Given the description of an element on the screen output the (x, y) to click on. 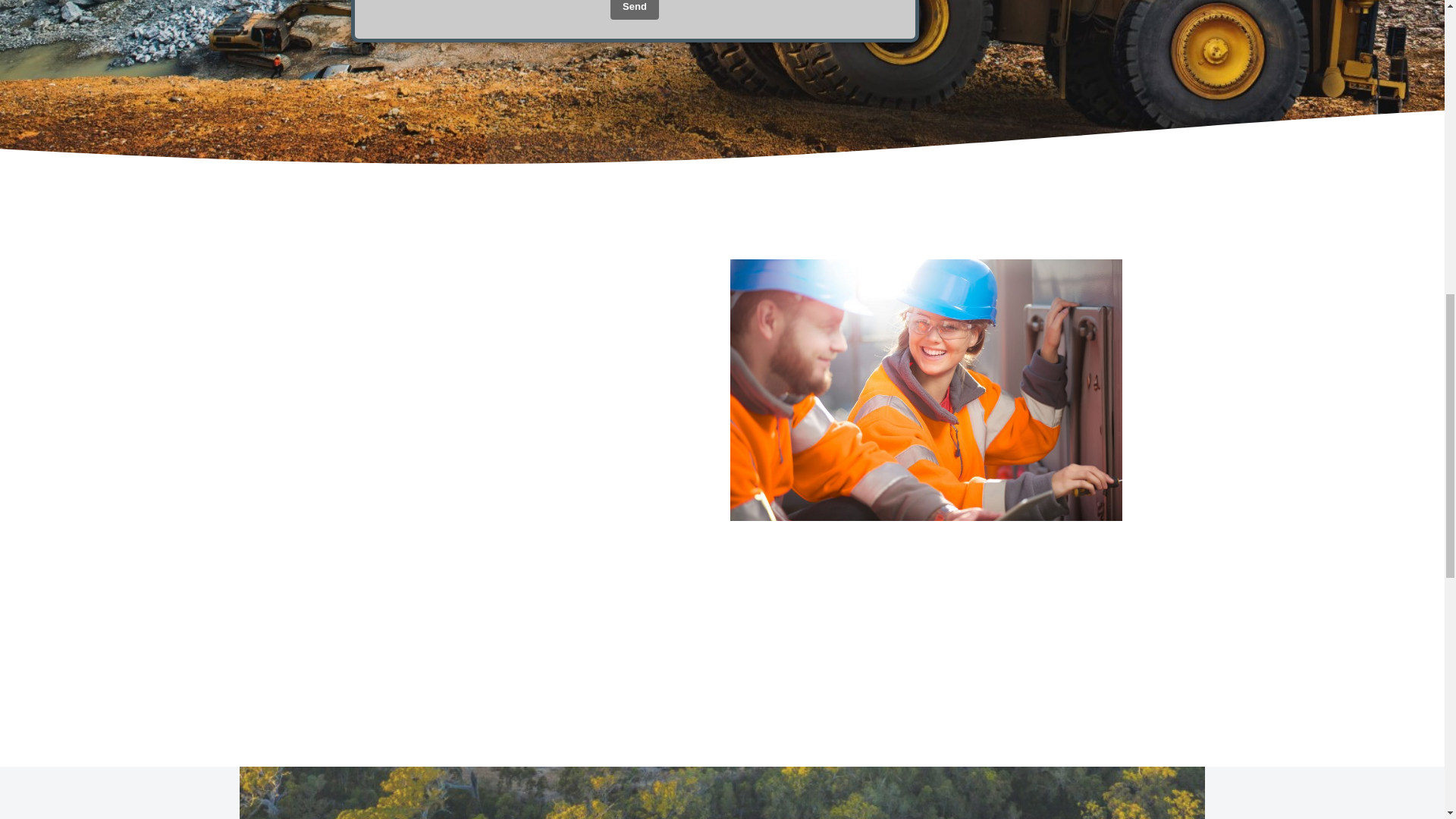
Send (634, 9)
